Given the description of an element on the screen output the (x, y) to click on. 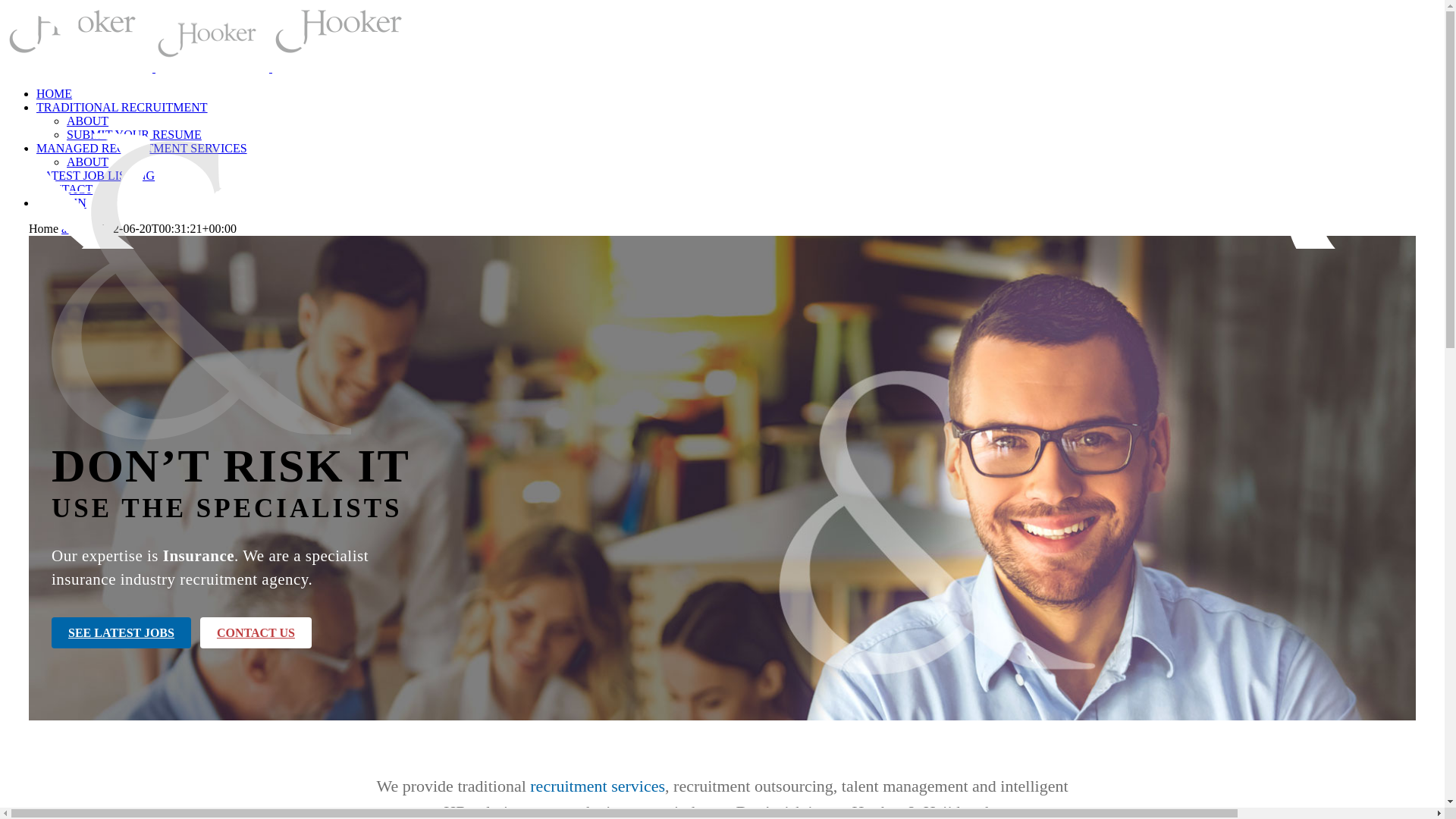
LATEST JOB LISTING Element type: text (95, 175)
ABOUT Element type: text (87, 120)
SEE LATEST JOBS Element type: text (121, 632)
LOGIN Element type: text (67, 203)
TRADITIONAL RECRUITMENT Element type: text (121, 106)
HOME Element type: text (54, 93)
CONTACT Element type: text (64, 188)
ABOUT Element type: text (87, 161)
SUBMIT YOUR RESUME Element type: text (133, 134)
admin Element type: text (76, 228)
MANAGED RECRUITMENT SERVICES Element type: text (141, 147)
CONTACT US Element type: text (255, 632)
